Given the description of an element on the screen output the (x, y) to click on. 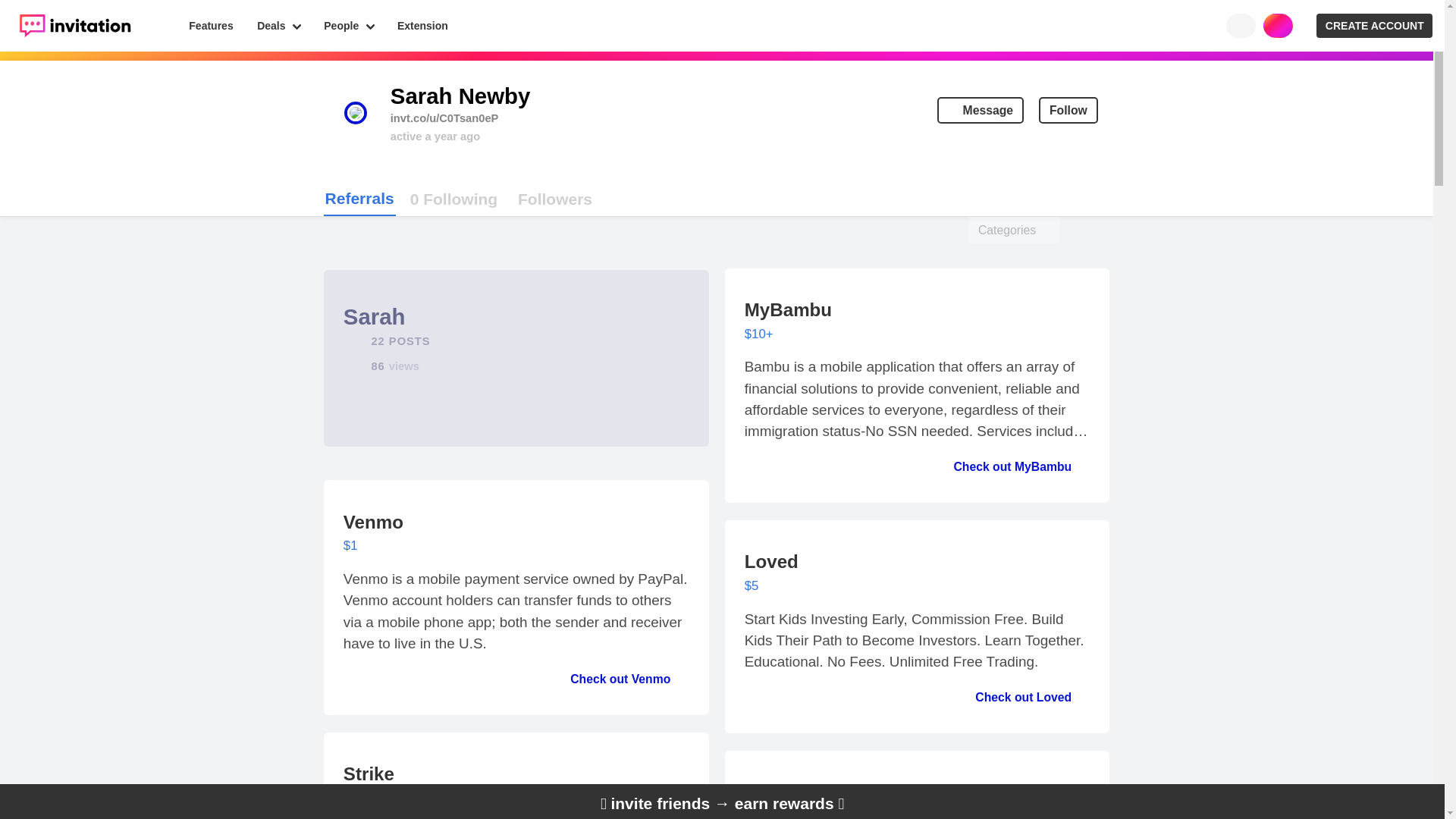
Features (211, 25)
Referrals (359, 199)
Extension (422, 25)
CREATE ACCOUNT (1374, 25)
Message (980, 110)
Deals (277, 25)
Follow (1068, 110)
People (454, 198)
